Given the description of an element on the screen output the (x, y) to click on. 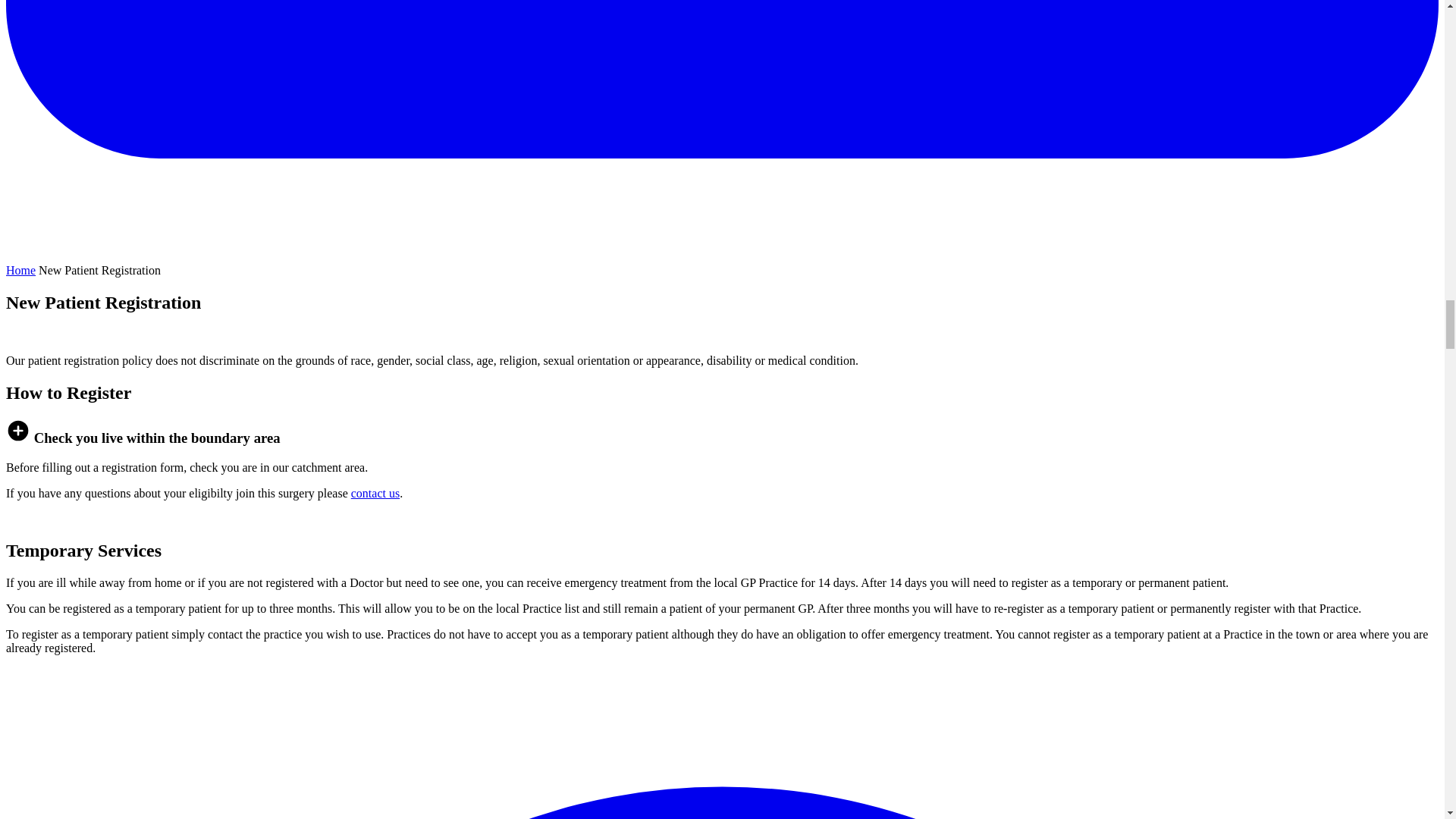
contact us (374, 492)
Home (19, 269)
